Given the description of an element on the screen output the (x, y) to click on. 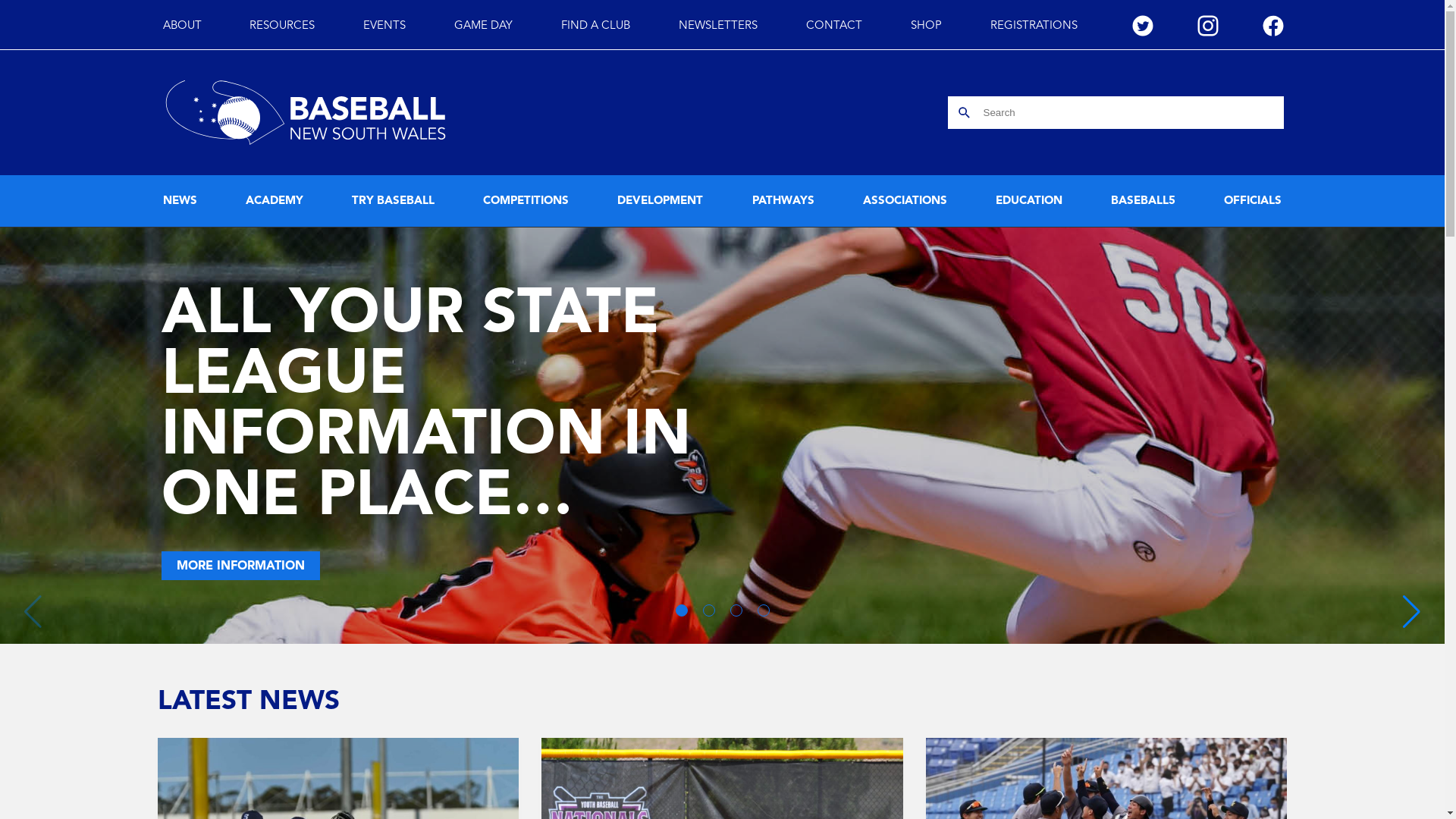
MORE INFORMATION Element type: text (239, 565)
ABOUT Element type: text (181, 25)
CONTACT Element type: text (833, 25)
Search Element type: text (963, 112)
ACADEMY Element type: text (274, 201)
COMPETITIONS Element type: text (525, 201)
REGISTRATIONS Element type: text (1033, 25)
FIND A CLUB Element type: text (595, 25)
TRY BASEBALL Element type: text (393, 201)
PATHWAYS Element type: text (782, 201)
GAME DAY Element type: text (483, 25)
EDUCATION Element type: text (1028, 201)
NEWSLETTERS Element type: text (718, 25)
EVENTS Element type: text (384, 25)
NEWS Element type: text (178, 201)
BASEBALL5 Element type: text (1142, 201)
RESOURCES Element type: text (281, 25)
OFFICIALS Element type: text (1252, 201)
SHOP Element type: text (926, 25)
ASSOCIATIONS Element type: text (904, 201)
DEVELOPMENT Element type: text (659, 201)
